Given the description of an element on the screen output the (x, y) to click on. 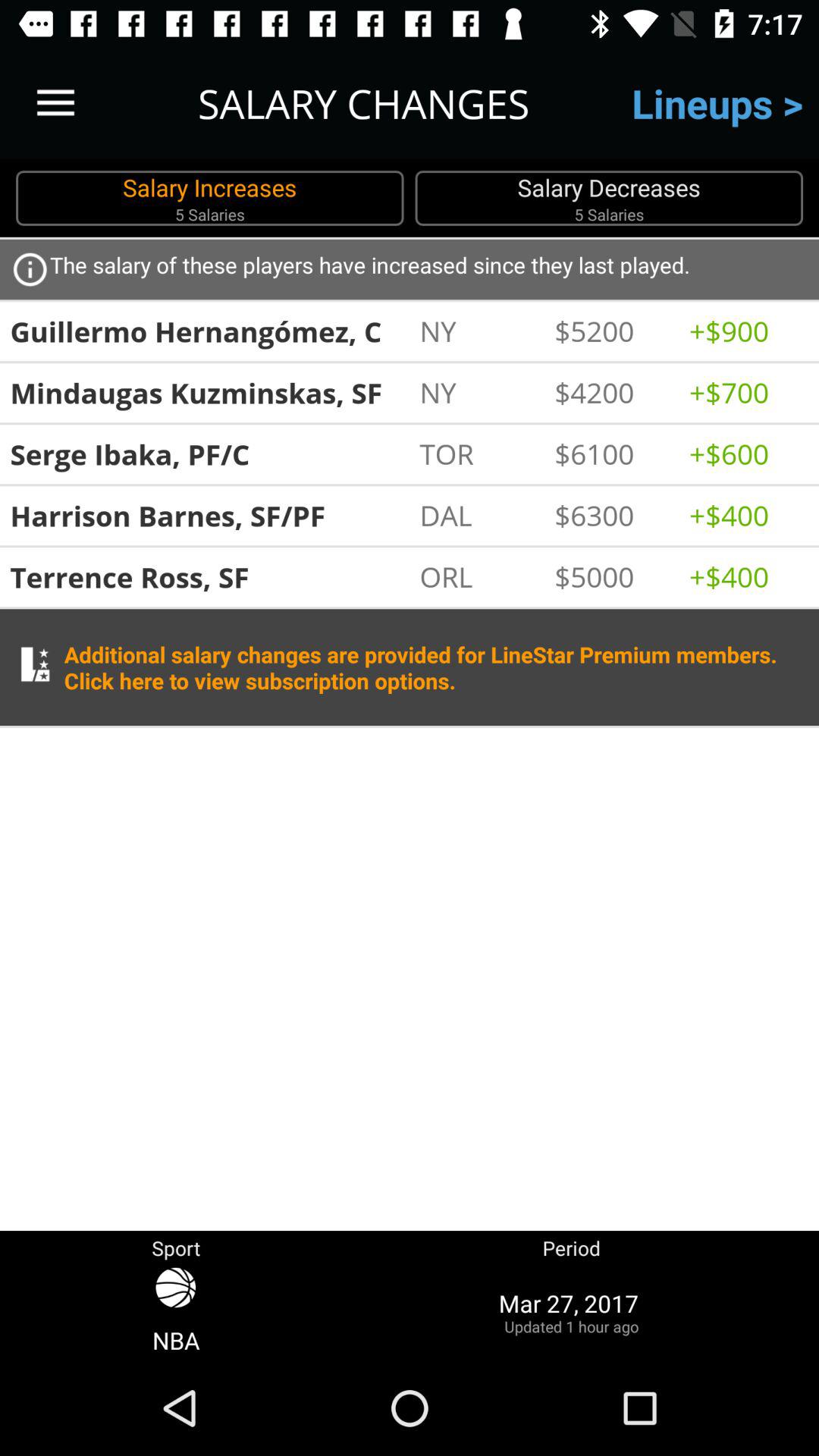
launch the $5000 icon (613, 576)
